Given the description of an element on the screen output the (x, y) to click on. 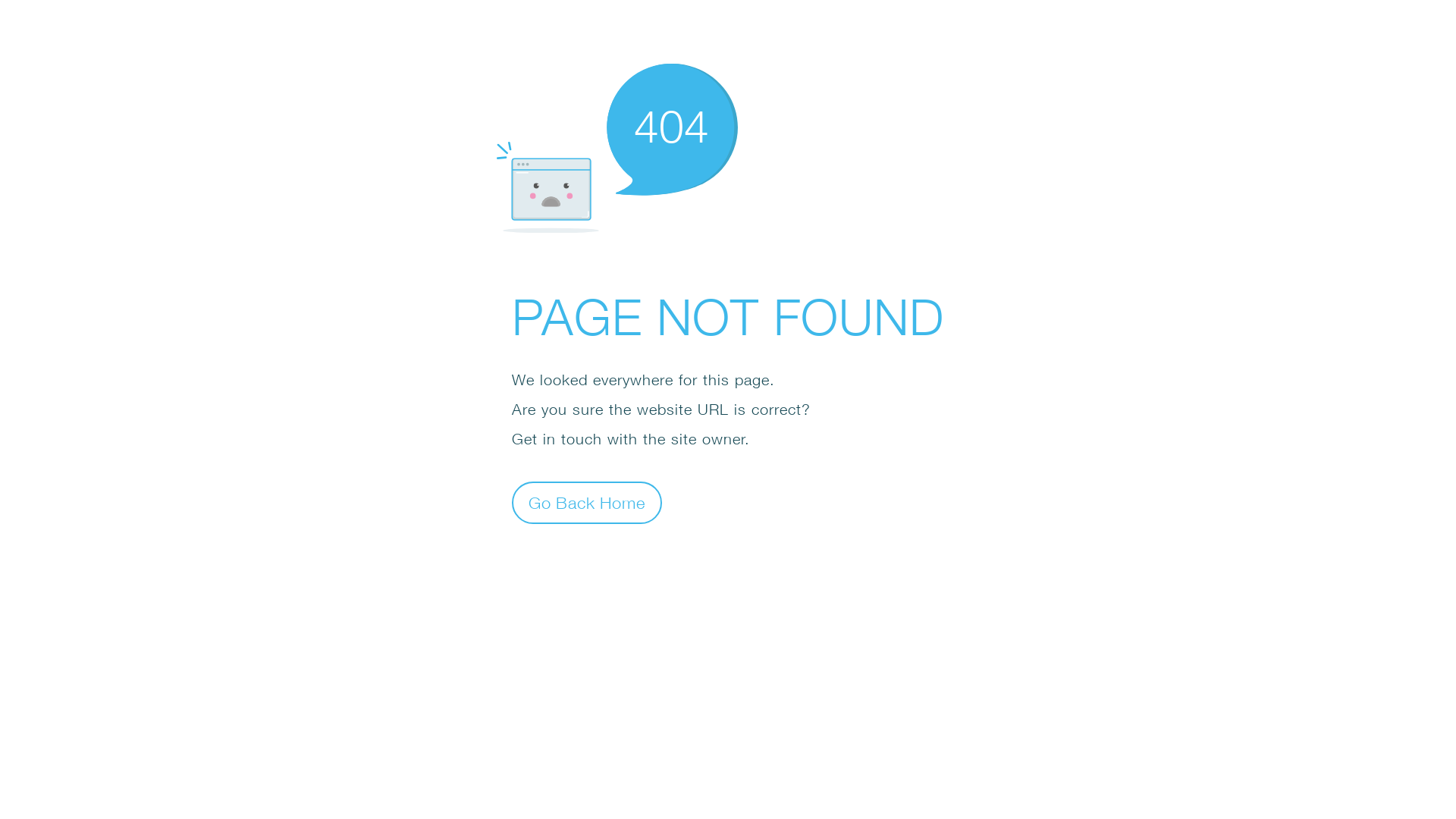
Go Back Home Element type: text (586, 502)
